Given the description of an element on the screen output the (x, y) to click on. 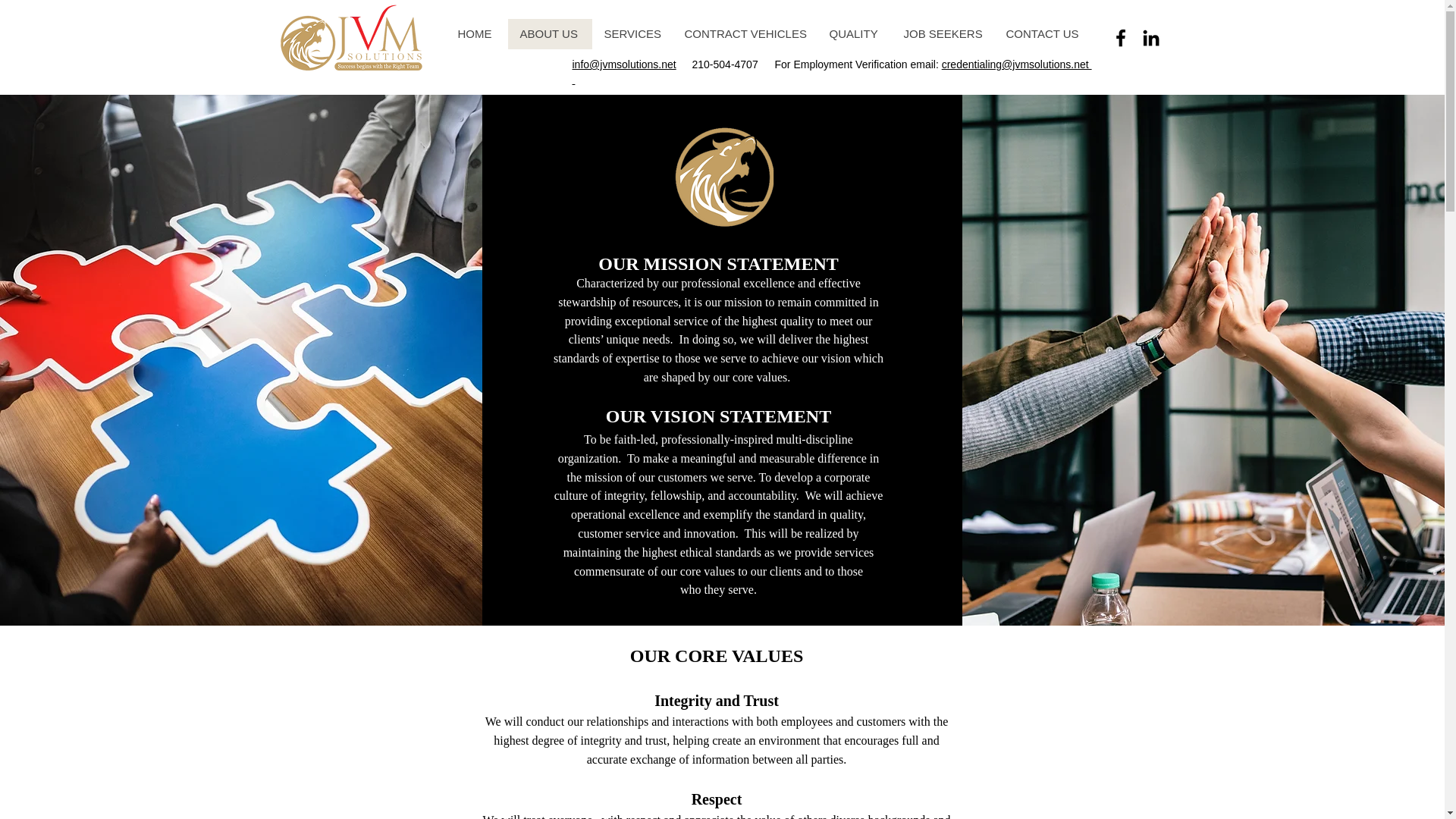
CONTACT US (1041, 33)
HOME (475, 33)
QUALITY (853, 33)
JOB SEEKERS (942, 33)
SERVICES (631, 33)
ABOUT US (550, 33)
CONTRACT VEHICLES (743, 33)
JOHNSON VENTURE MANAGEMENT SOLUTIONS (350, 39)
